Given the description of an element on the screen output the (x, y) to click on. 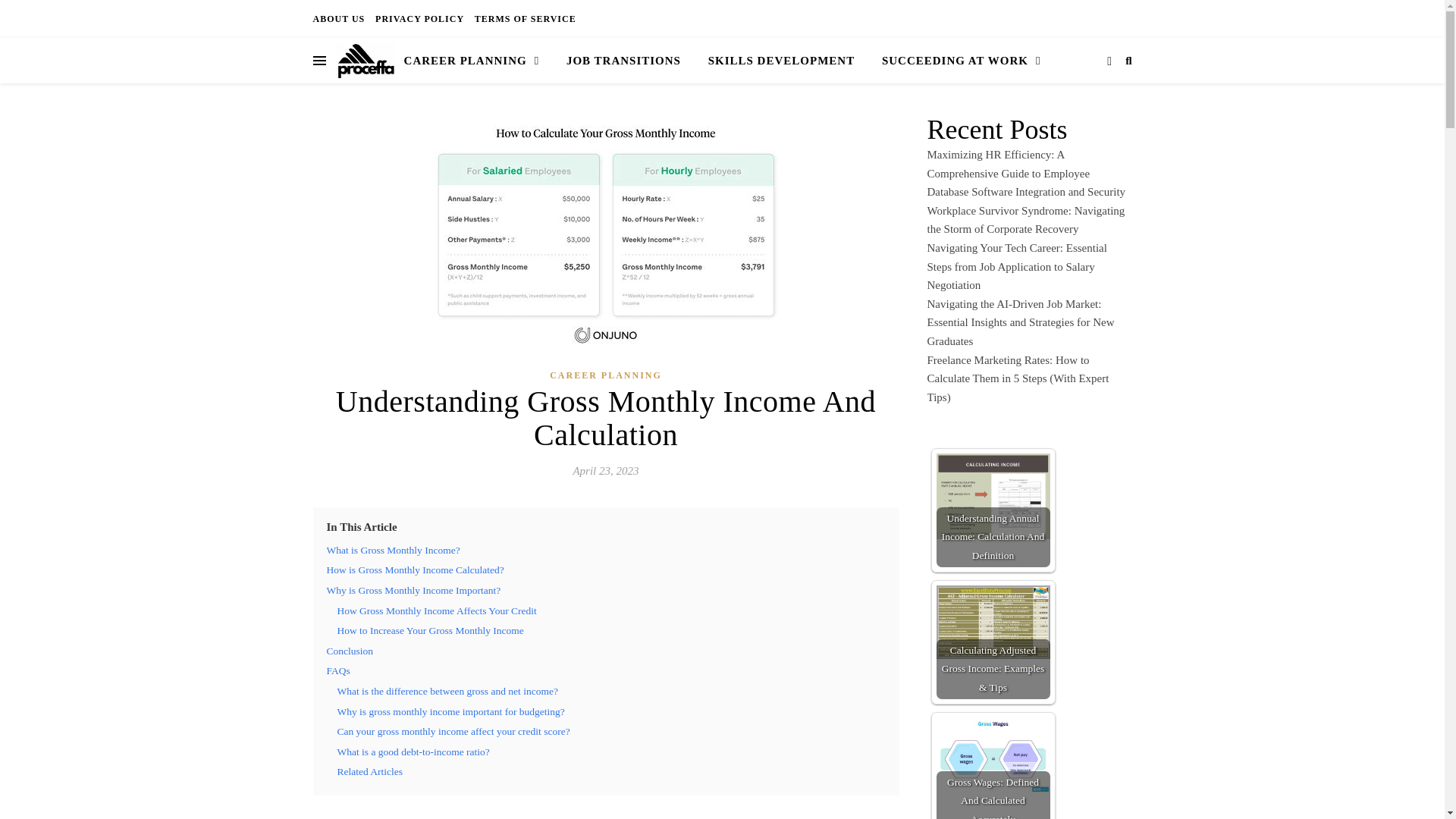
CAREER PLANNING (606, 375)
How to Increase Your Gross Monthly Income (429, 630)
Why is Gross Monthly Income Important? (413, 590)
CAREER PLANNING (477, 60)
SKILLS DEVELOPMENT (780, 60)
Understanding Annual Income: Calculation And Definition (992, 495)
ABOUT US (340, 18)
Conclusion (349, 650)
JOB TRANSITIONS (623, 60)
Gross Wages: Defined And Calculated Accurately (992, 754)
